Given the description of an element on the screen output the (x, y) to click on. 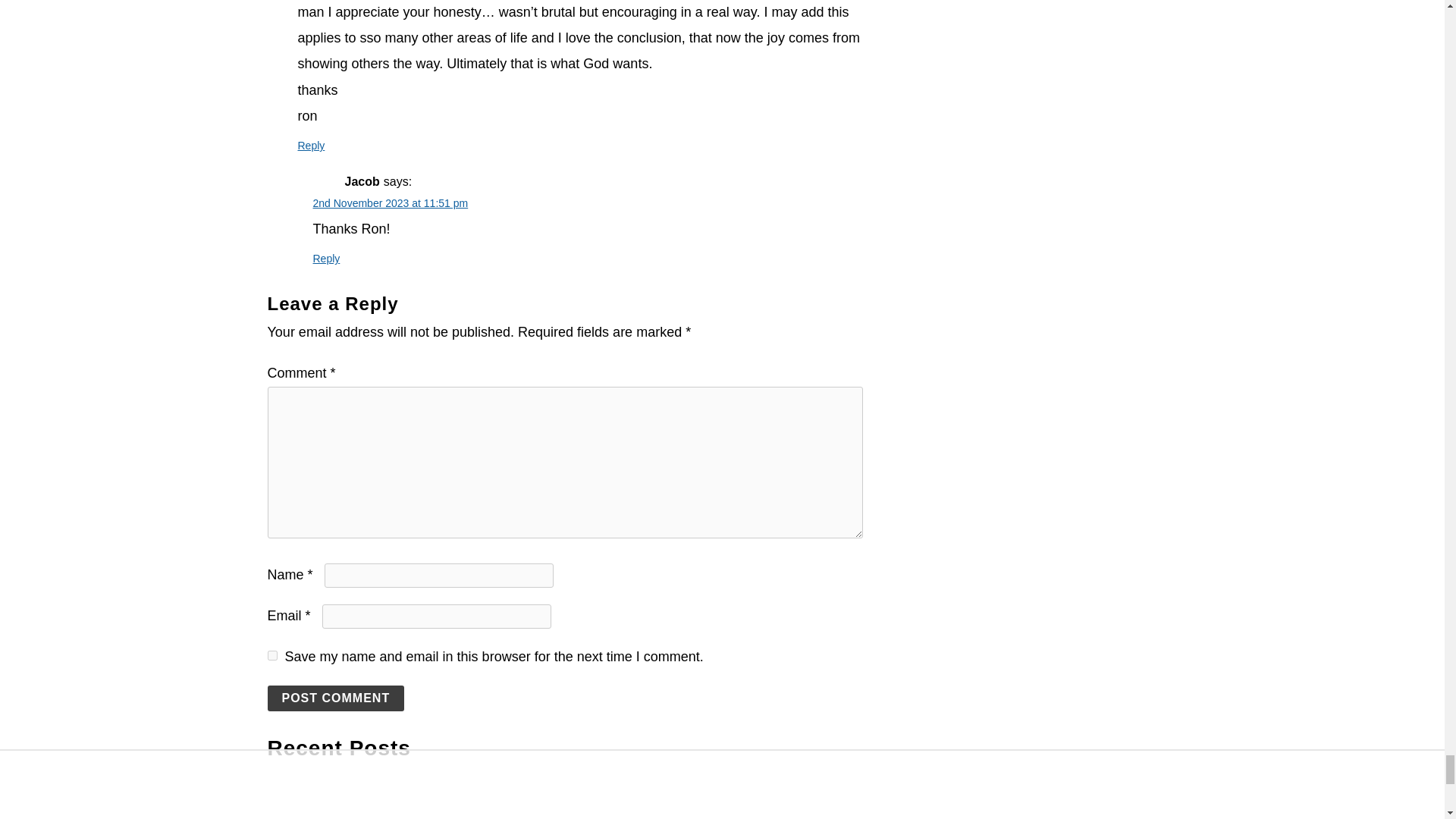
Post Comment (335, 698)
yes (271, 655)
